Given the description of an element on the screen output the (x, y) to click on. 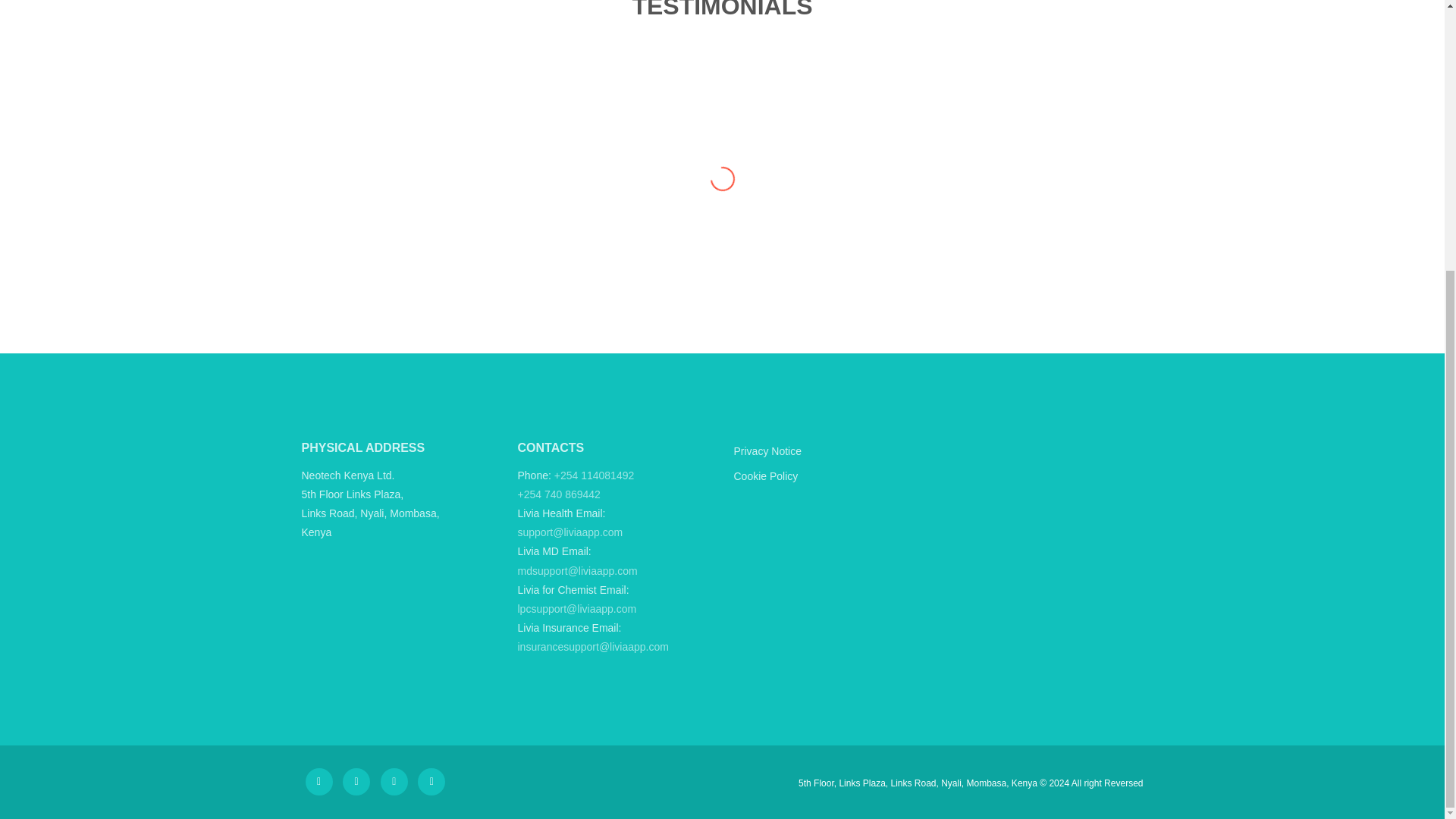
Facebook (317, 781)
Twitter (355, 781)
Linkedin (431, 781)
Cookie Policy (830, 476)
Privacy Notice (830, 450)
